Given the description of an element on the screen output the (x, y) to click on. 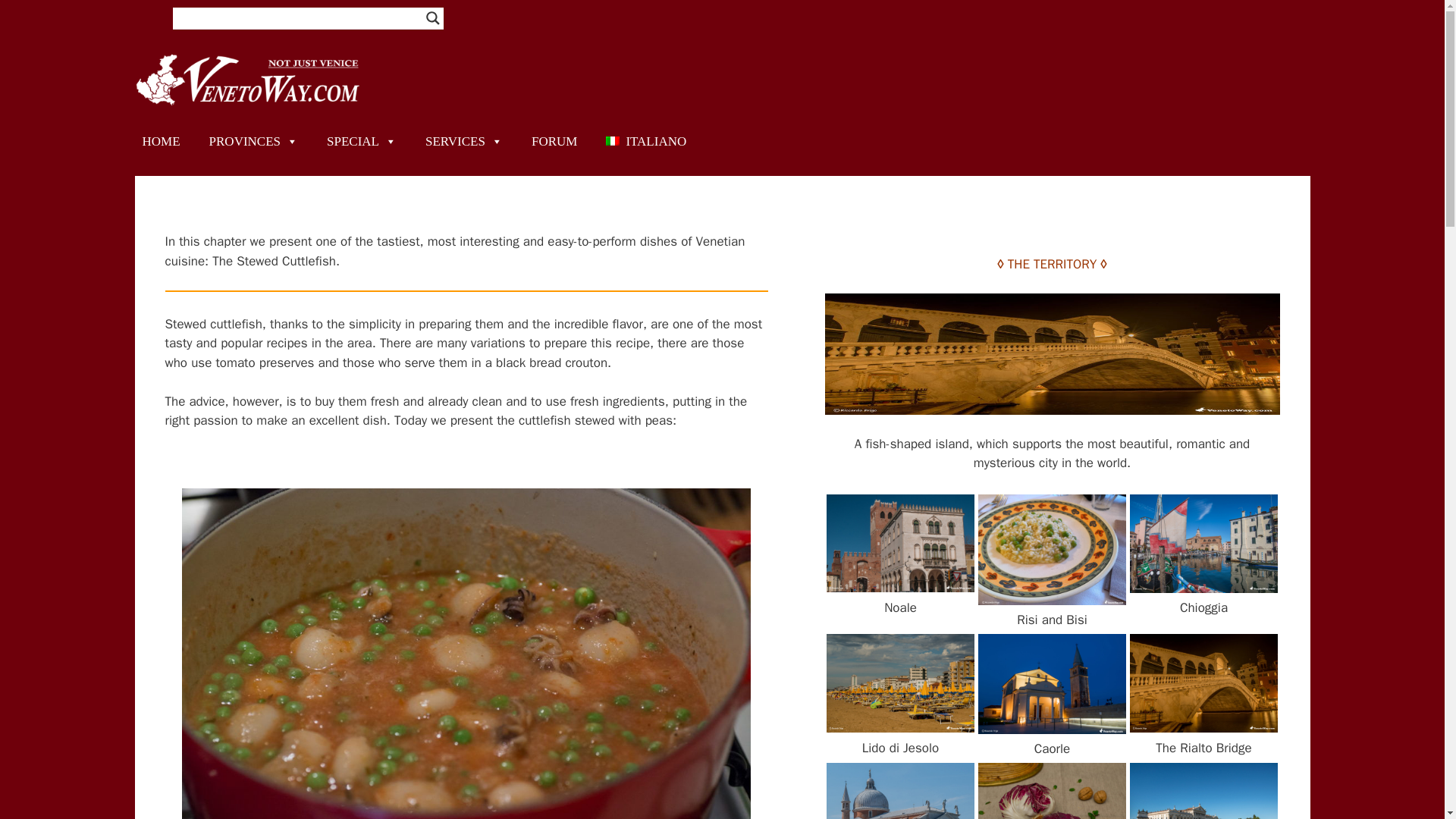
VenetoWay.com (248, 78)
HOME (161, 141)
Italiano (646, 141)
VenetoWay.com (248, 79)
PROVINCES (253, 141)
